Given the description of an element on the screen output the (x, y) to click on. 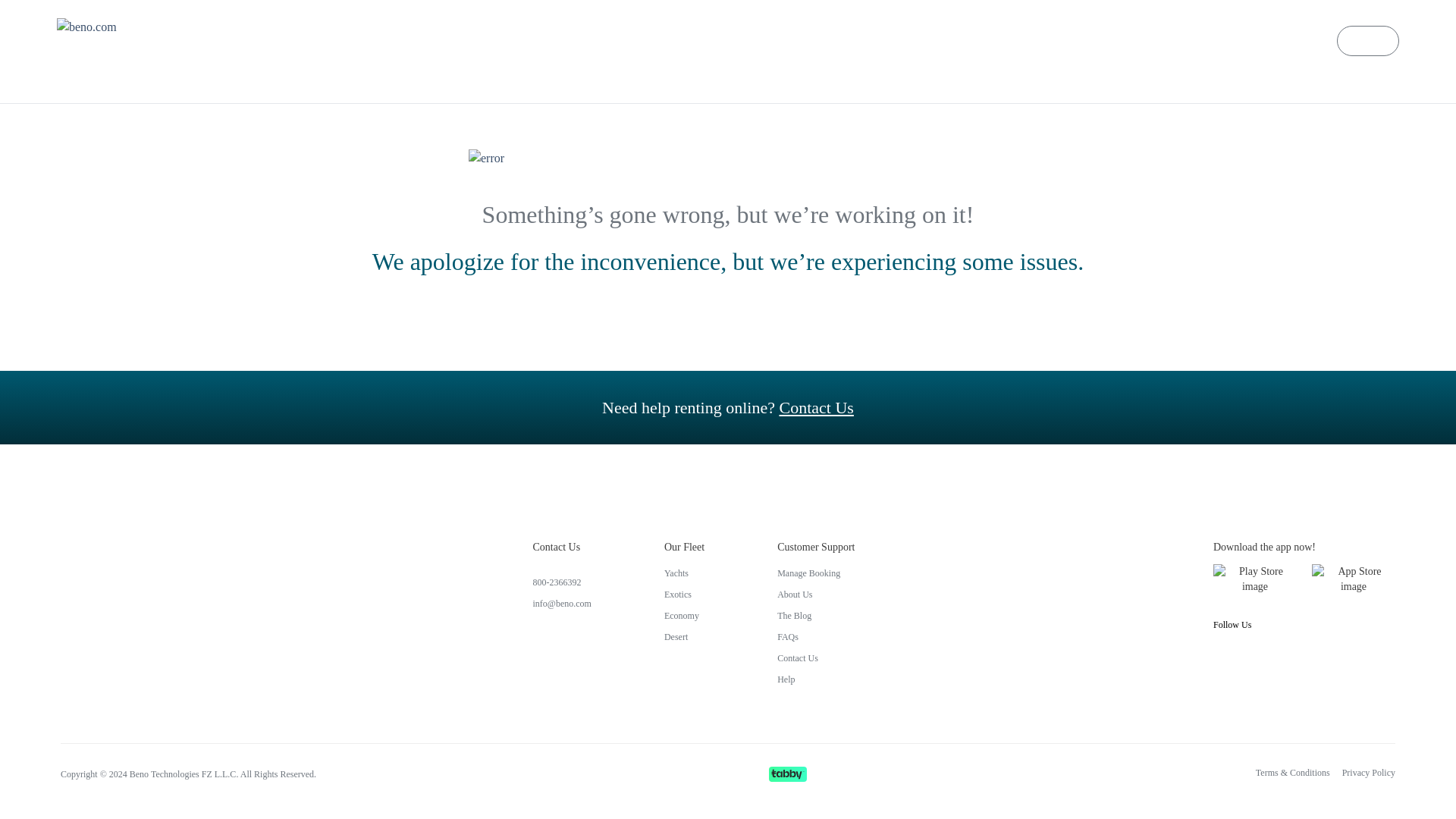
Privacy Policy (1368, 772)
FAQs (815, 636)
Help (815, 679)
Desert (683, 636)
800-2366392 (561, 582)
Exotics (683, 594)
Economy (683, 615)
Contact Us (815, 407)
The Blog (815, 615)
About Us (815, 594)
Yachts (683, 573)
Manage Booking (815, 573)
Contact Us (815, 657)
